Given the description of an element on the screen output the (x, y) to click on. 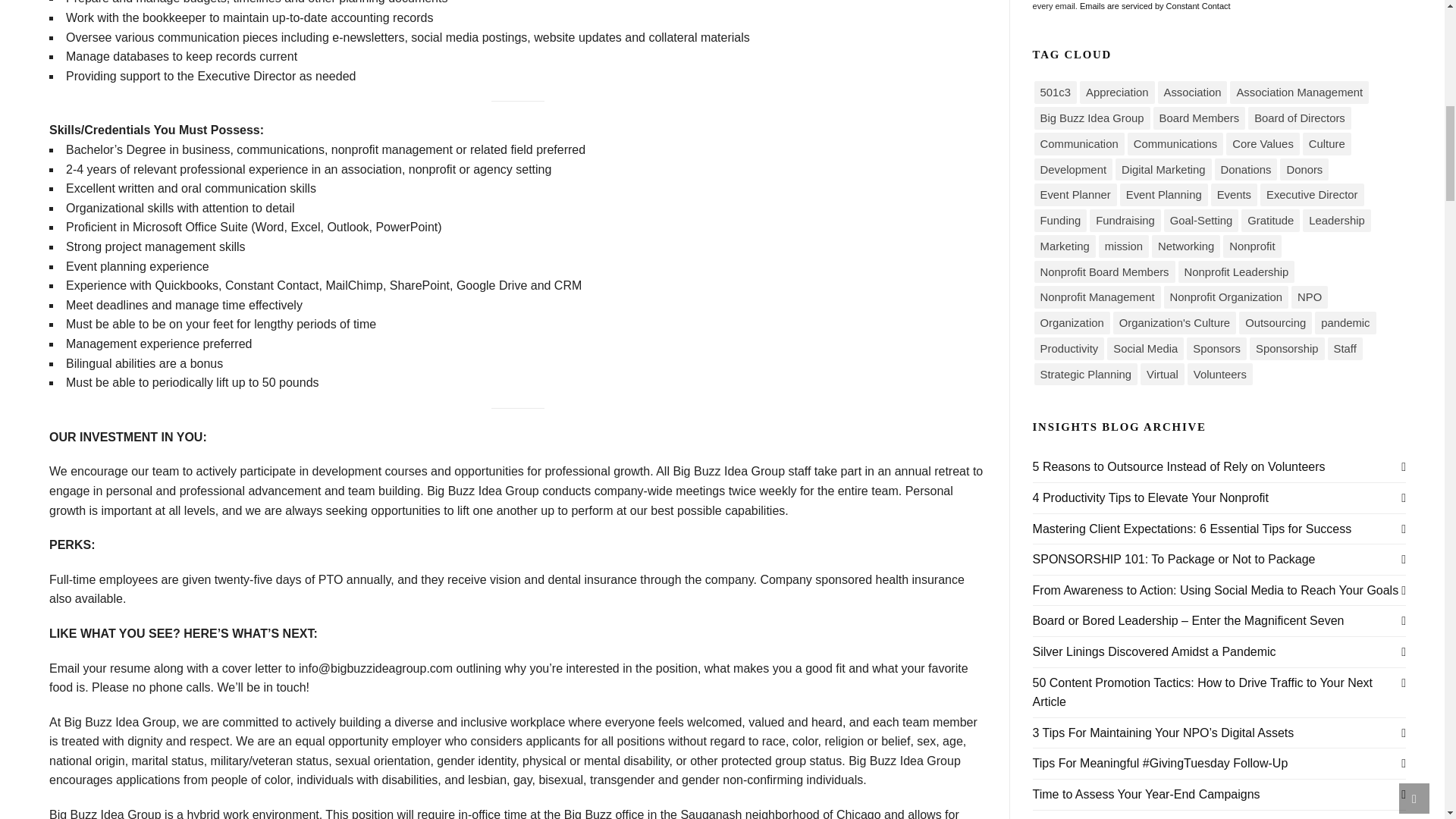
501c3 (1055, 92)
Emails are serviced by Constant Contact (1155, 5)
Association Management (1299, 92)
Page 1 (518, 70)
Big Buzz Idea Group (1091, 118)
Association (1192, 92)
Appreciation (1117, 92)
